Given the description of an element on the screen output the (x, y) to click on. 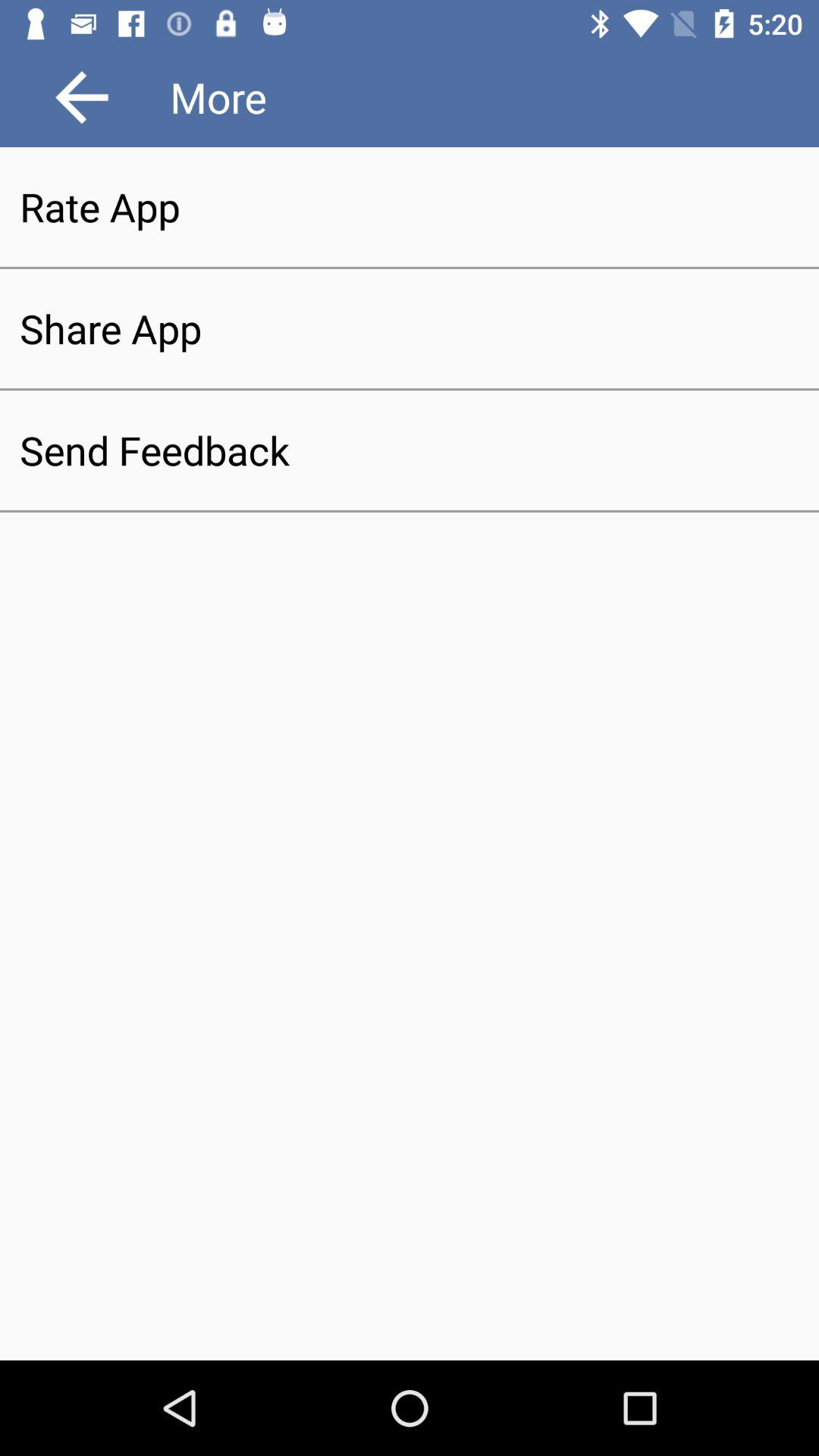
tap share app app (409, 328)
